Given the description of an element on the screen output the (x, y) to click on. 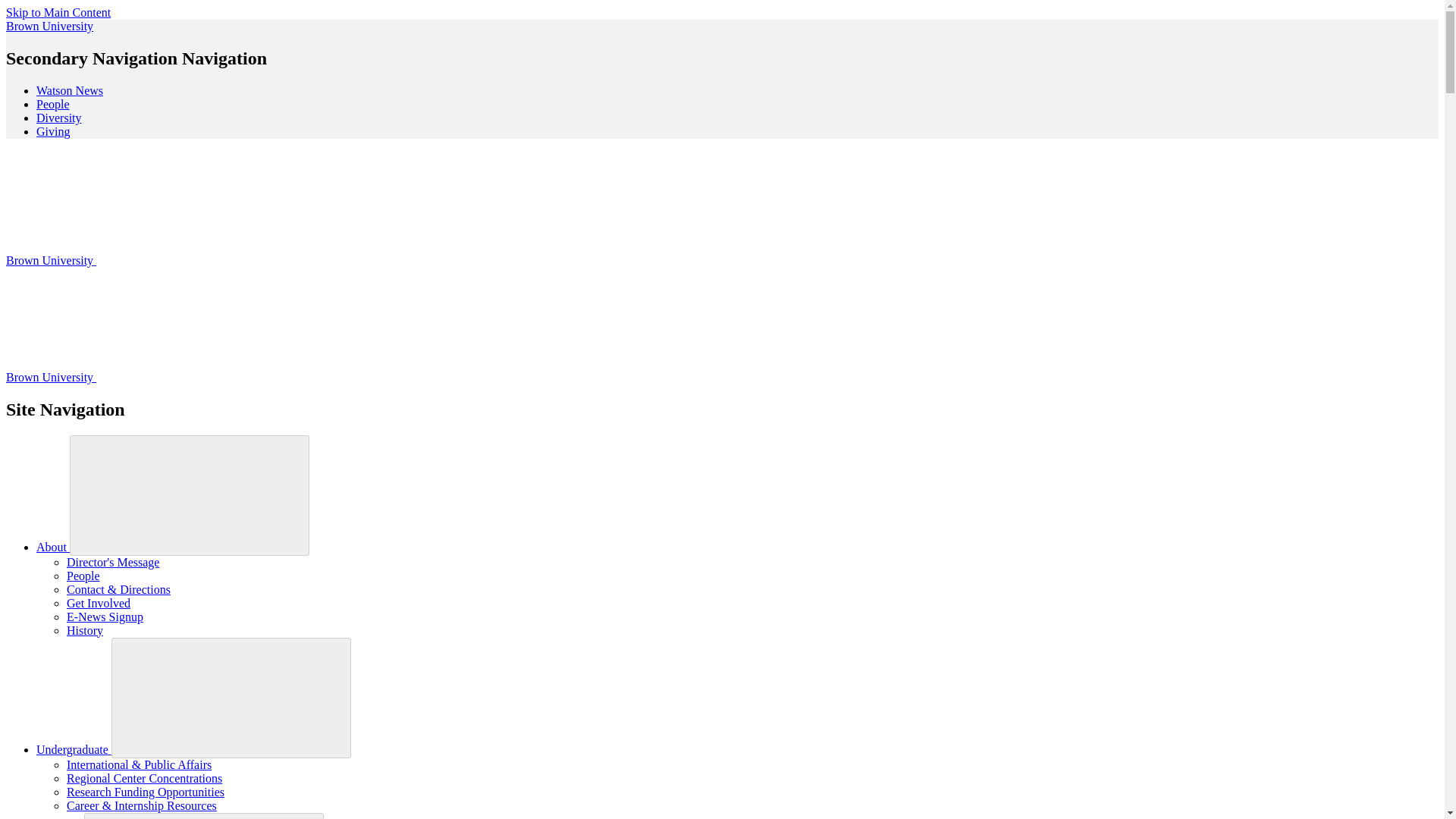
E-News Signup (104, 616)
Brown University (49, 25)
Skip to Main Content (57, 11)
Diversity (58, 117)
People (83, 575)
Director's Message (112, 562)
People (52, 103)
Research Funding Opportunities (145, 791)
Giving (52, 131)
Watson News (69, 90)
